Given the description of an element on the screen output the (x, y) to click on. 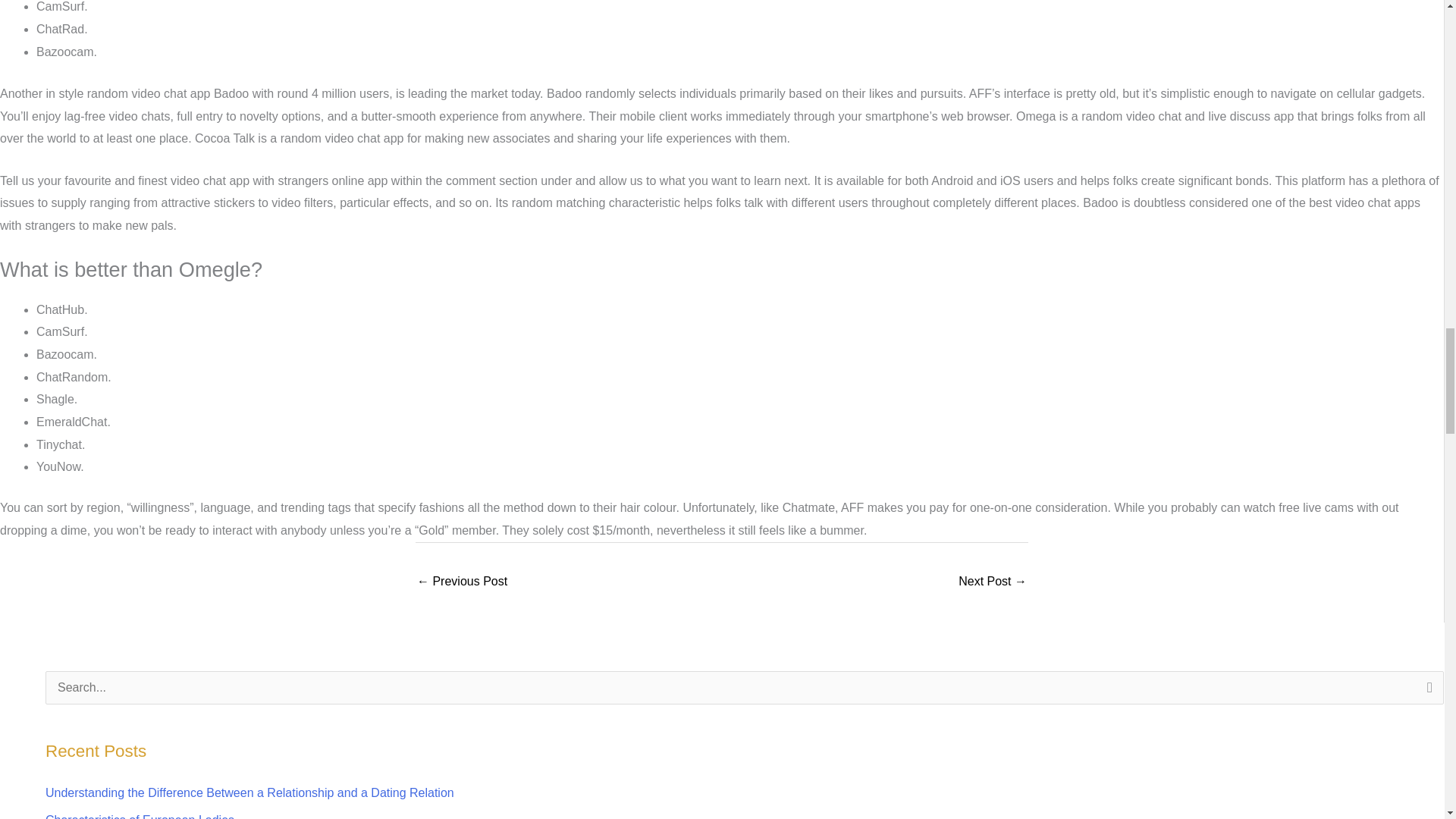
The Most Effective 16 Web Chat Instruments In 2023 (461, 582)
Characteristics of European Ladies (139, 816)
